Given the description of an element on the screen output the (x, y) to click on. 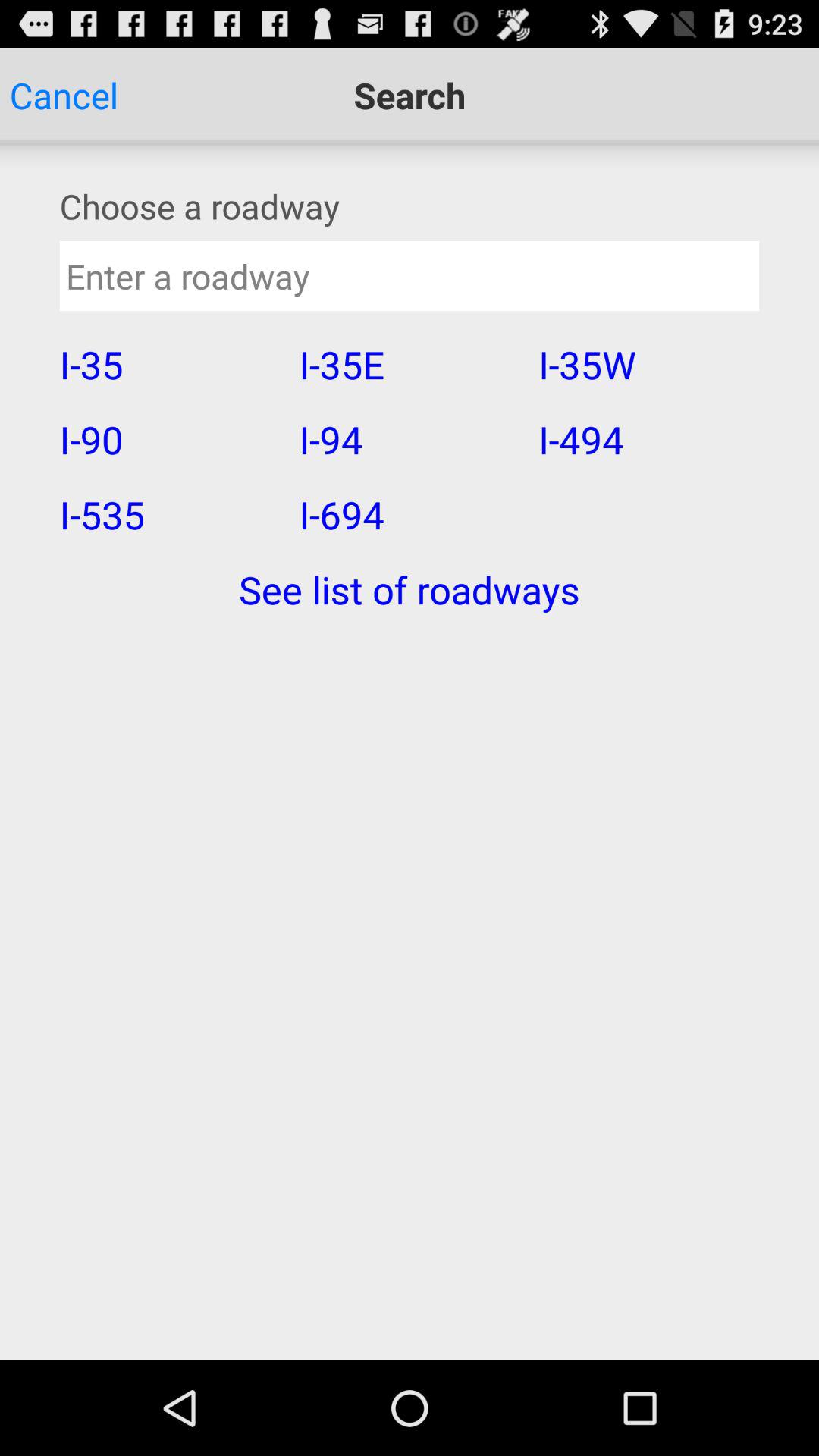
choose the i-90 (169, 439)
